Given the description of an element on the screen output the (x, y) to click on. 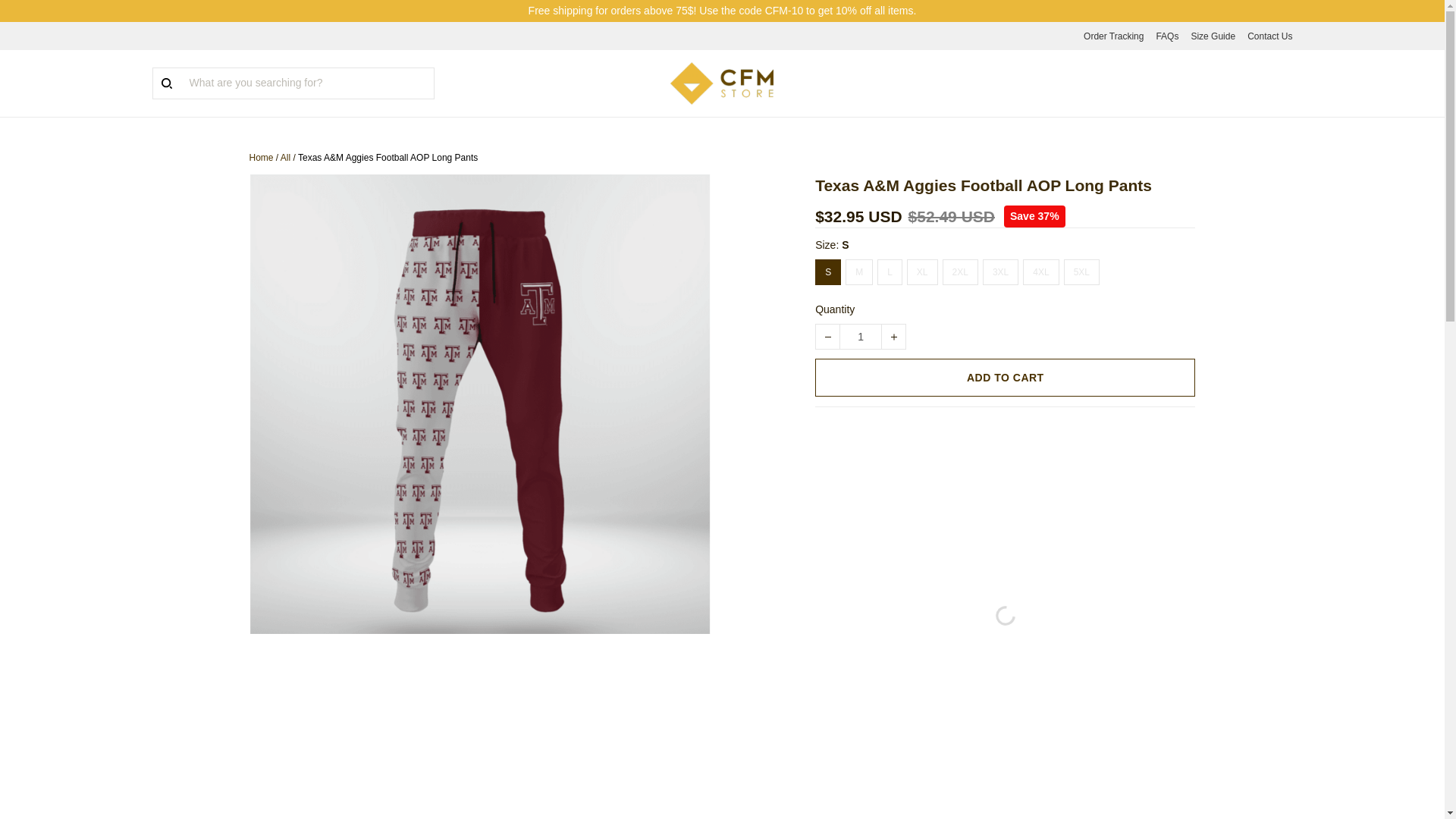
ADD TO CART (1005, 377)
FAQs (1166, 36)
4XL (1040, 272)
M (858, 272)
Home (260, 157)
XL (922, 272)
Size Guide (1212, 36)
Contact Us (1269, 36)
All (285, 157)
3XL (999, 272)
1 (860, 336)
S (828, 272)
5XL (1081, 272)
L (889, 272)
Order Tracking (1112, 36)
